Given the description of an element on the screen output the (x, y) to click on. 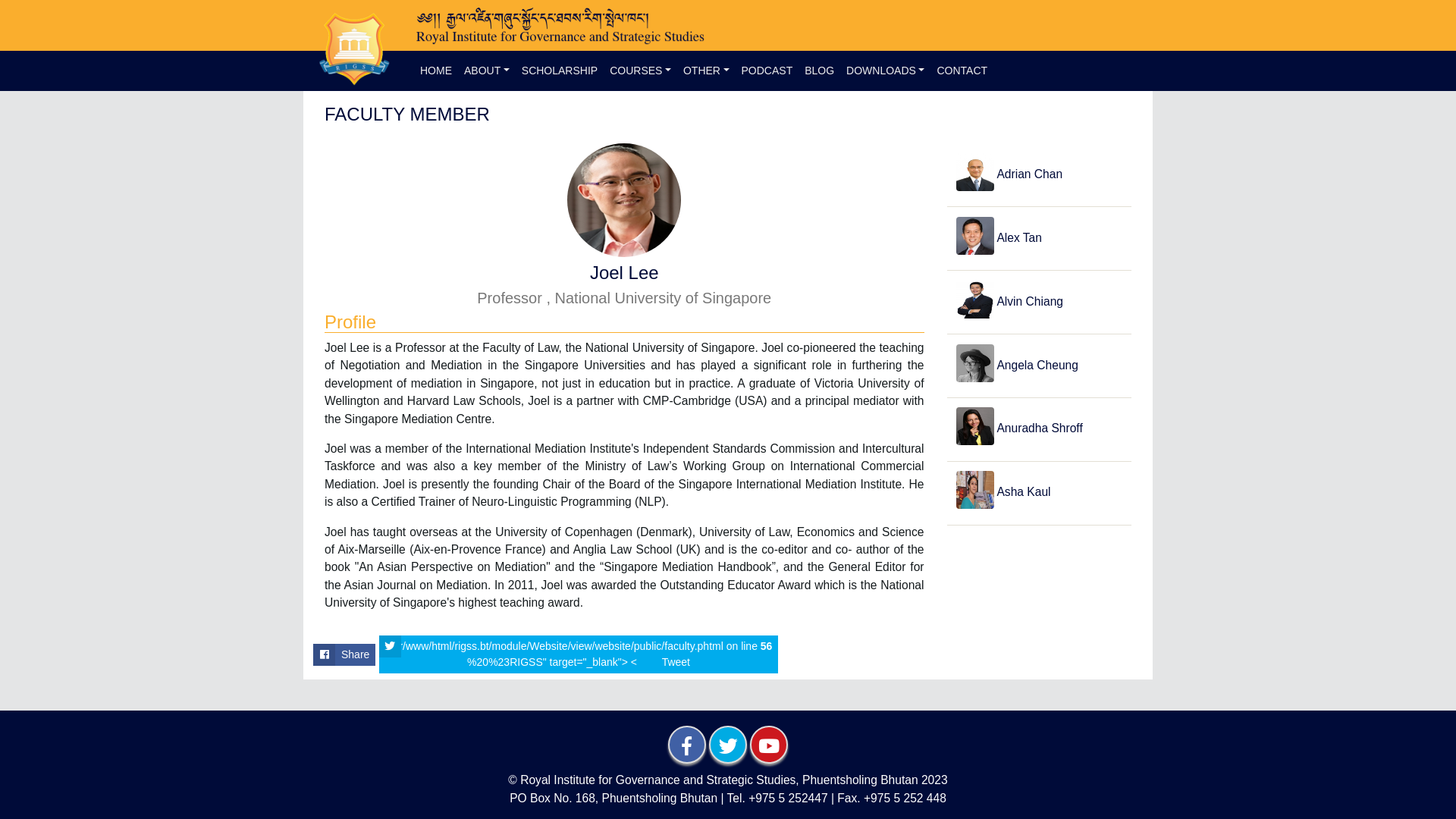
BLOG Element type: text (819, 70)
COURSES Element type: text (640, 70)
Alex Tan Element type: text (1038, 238)
Share Element type: text (344, 654)
DOWNLOADS Element type: text (885, 70)
OTHER Element type: text (706, 70)
Alvin Chiang Element type: text (1038, 301)
CONTACT Element type: text (961, 70)
PODCAST Element type: text (767, 70)
SCHOLARSHIP Element type: text (559, 70)
Angela Cheung Element type: text (1038, 365)
Asha Kaul Element type: text (1038, 492)
ABOUT Element type: text (486, 70)
Anuradha Shroff Element type: text (1038, 429)
HOME Element type: text (436, 70)
Adrian Chan Element type: text (1038, 174)
